Given the description of an element on the screen output the (x, y) to click on. 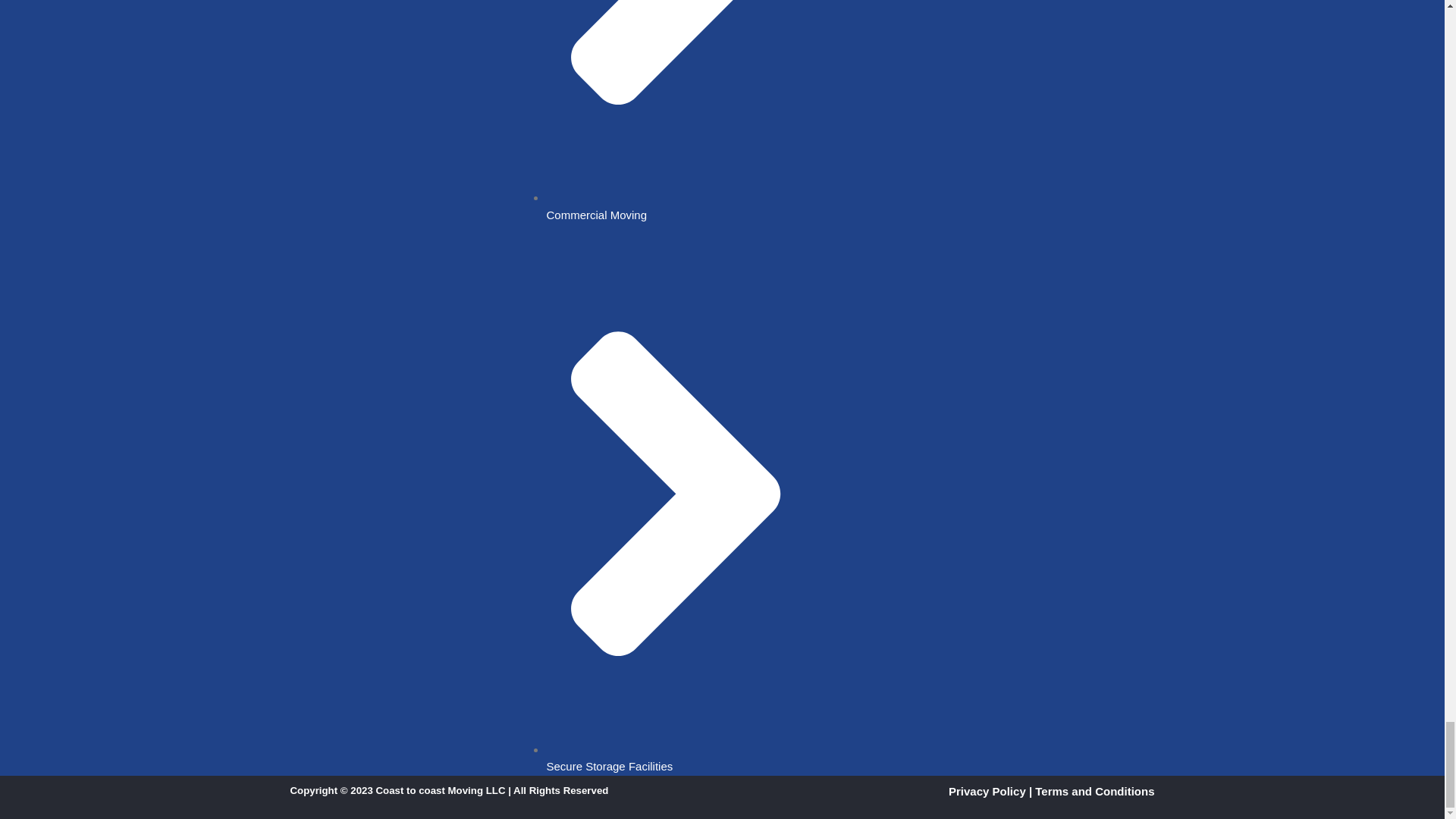
Commercial Moving (681, 205)
Terms and Conditions (1094, 790)
Privacy Policy (987, 790)
Secure Storage Facilities (681, 757)
